Given the description of an element on the screen output the (x, y) to click on. 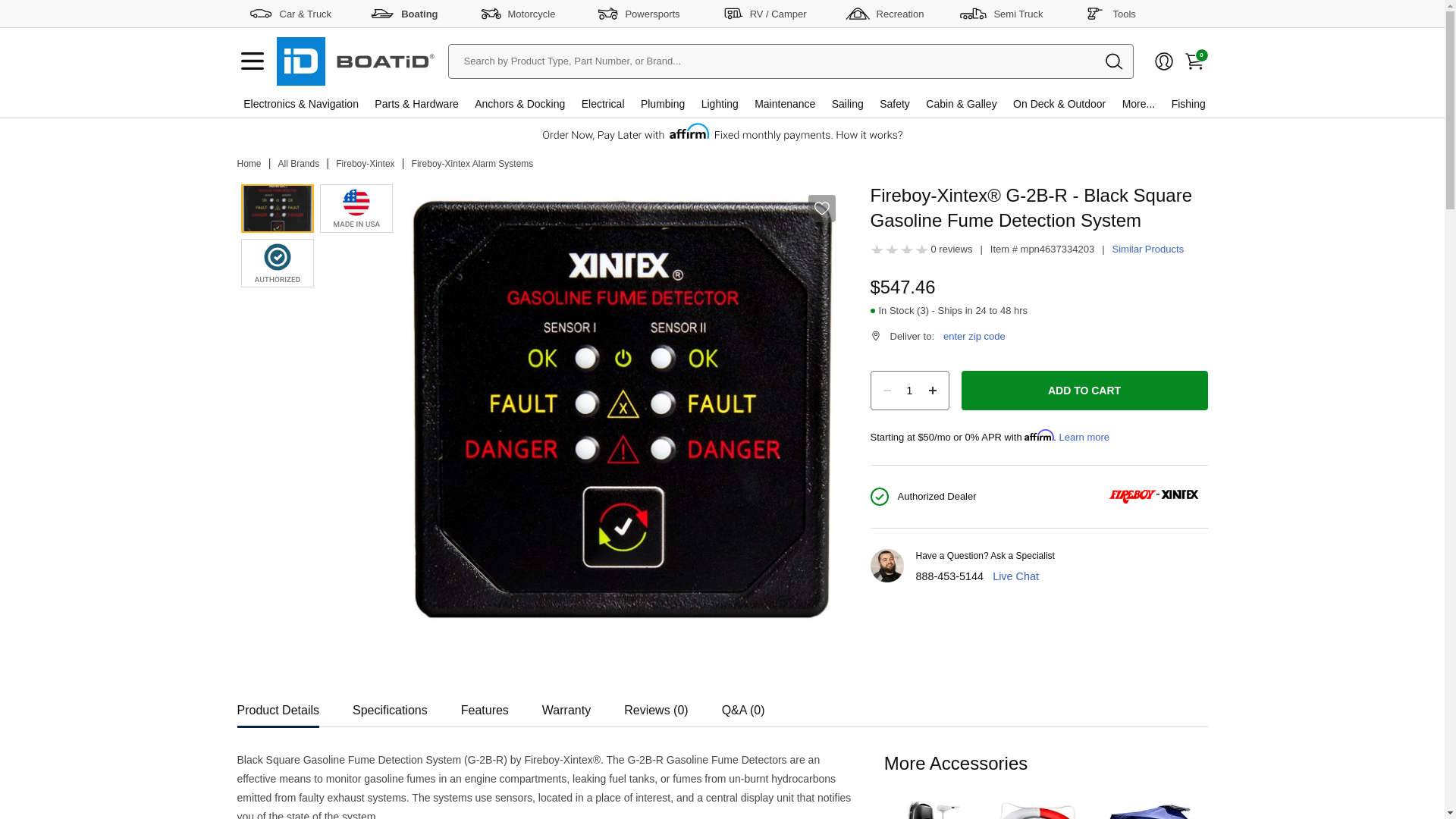
Features (484, 705)
Fishing (1187, 103)
Warranty (566, 705)
Product Details (276, 705)
Maintenance (784, 103)
Lighting (719, 103)
Features (484, 705)
Home (247, 163)
Electrical (602, 103)
Warranty (566, 705)
Tools (1110, 13)
Made In USA (356, 208)
Learn more (1084, 437)
Fireboy-Xintex (365, 163)
Fireboy-Xintex Alarm Systems (473, 163)
